Given the description of an element on the screen output the (x, y) to click on. 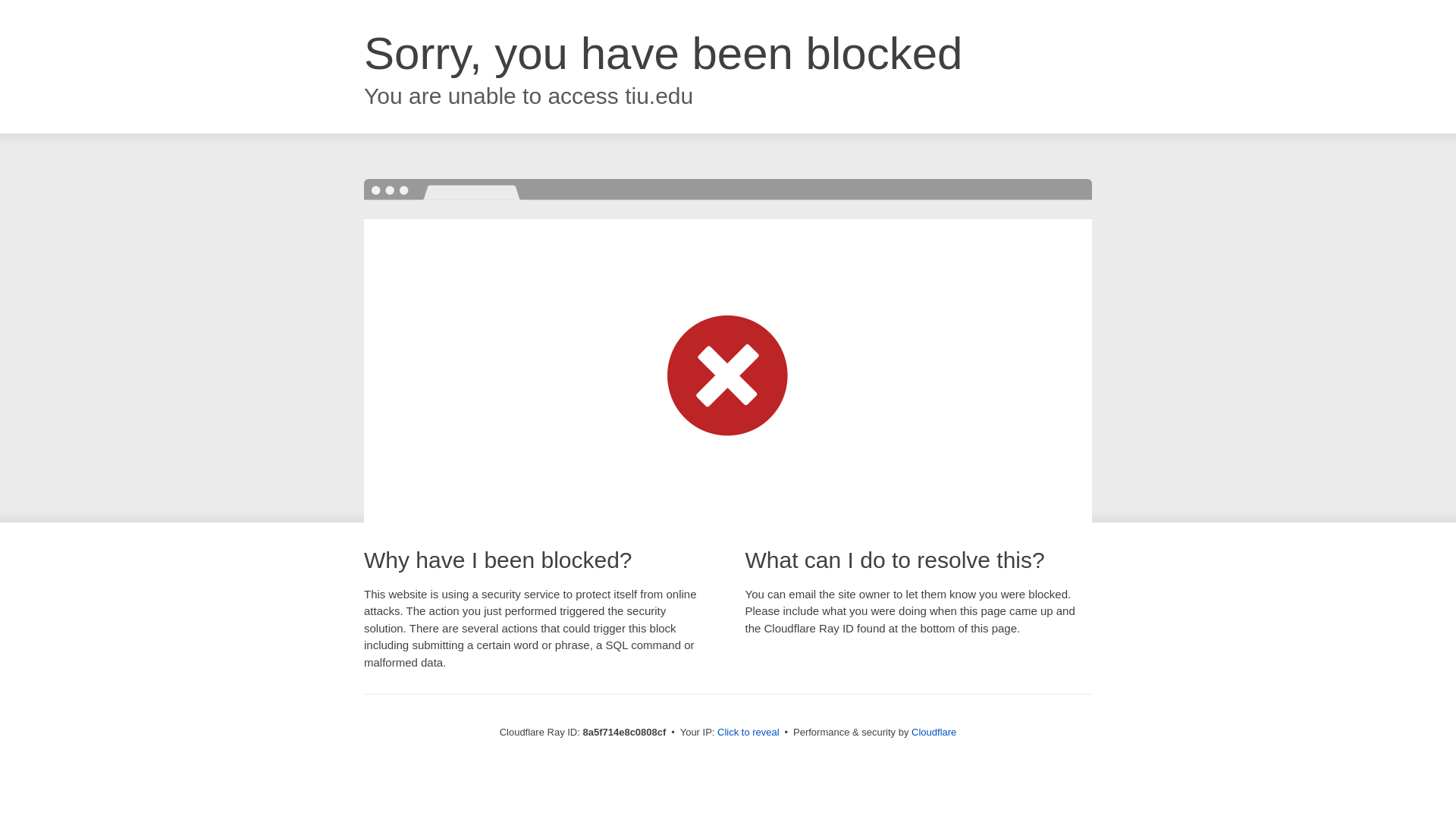
Cloudflare (933, 731)
Click to reveal (747, 732)
